Given the description of an element on the screen output the (x, y) to click on. 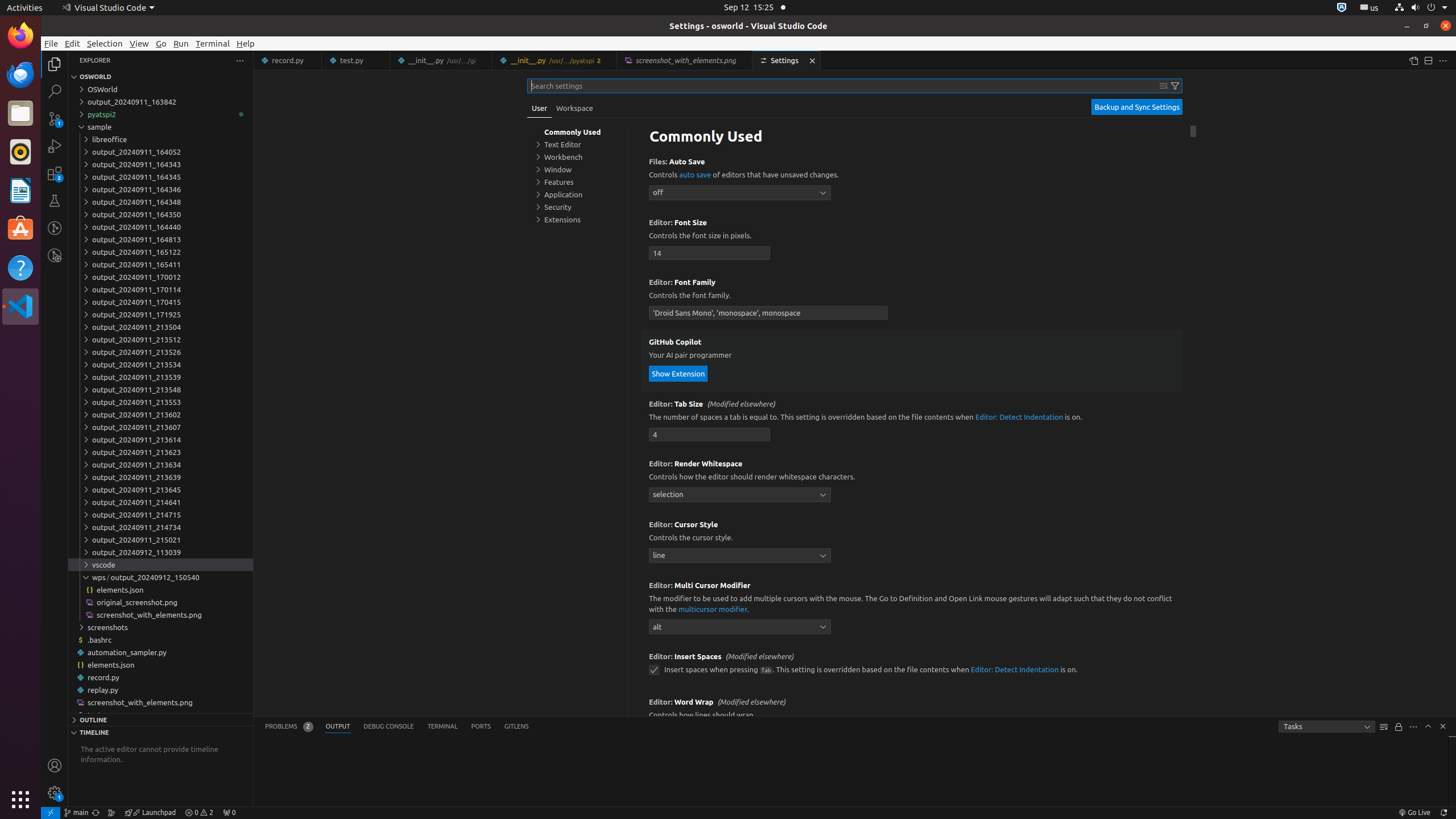
remote Element type: push-button (50, 812)
output_20240911_164350 Element type: tree-item (160, 214)
Commonly Used Element type: tree-item (911, 137)
output_20240911_164346 Element type: tree-item (160, 189)
